Given the description of an element on the screen output the (x, y) to click on. 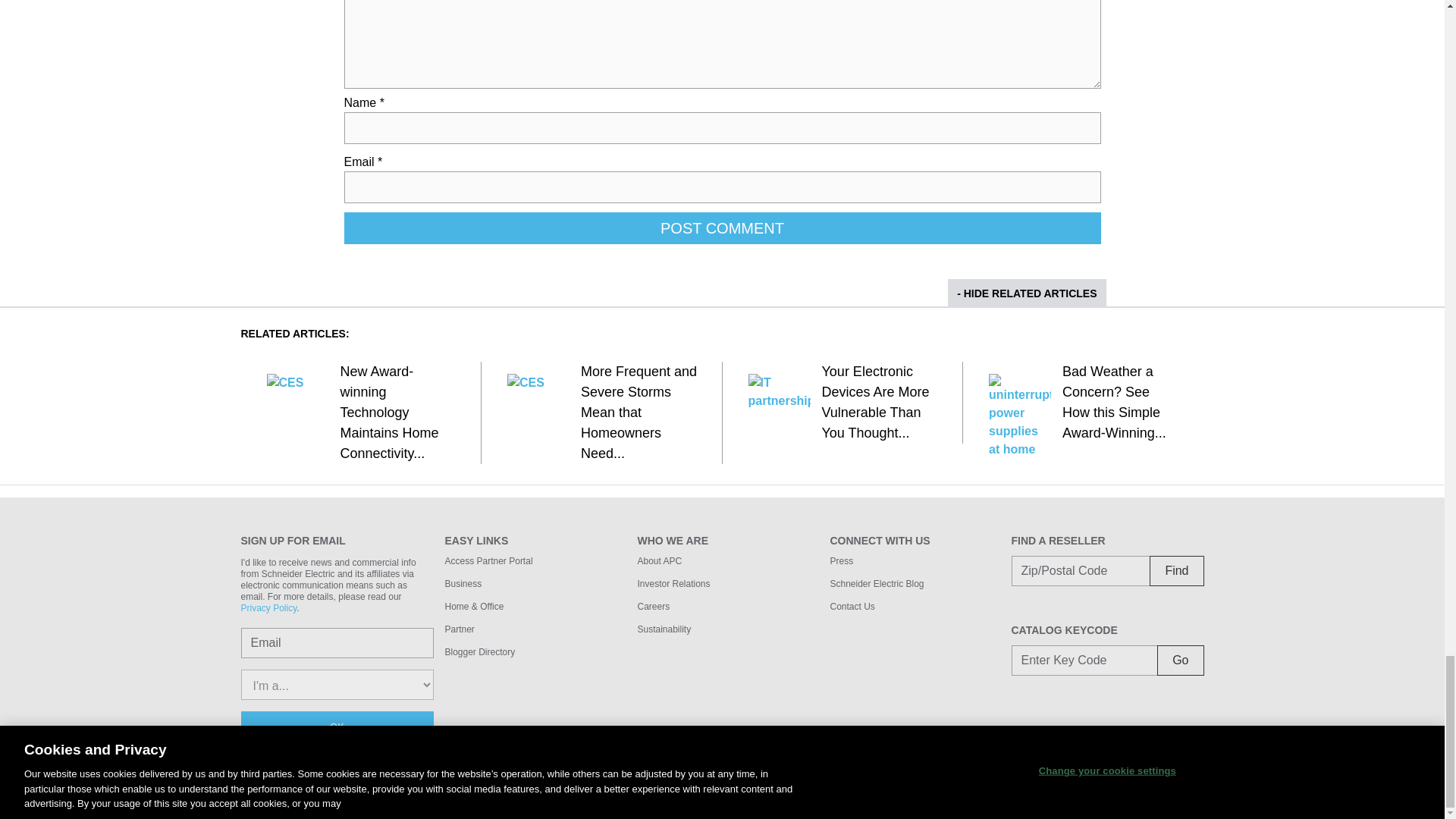
Investor Relations (673, 583)
OK (337, 726)
Sustainability (663, 629)
Careers (653, 606)
Post Comment (721, 228)
About APC (659, 561)
